Given the description of an element on the screen output the (x, y) to click on. 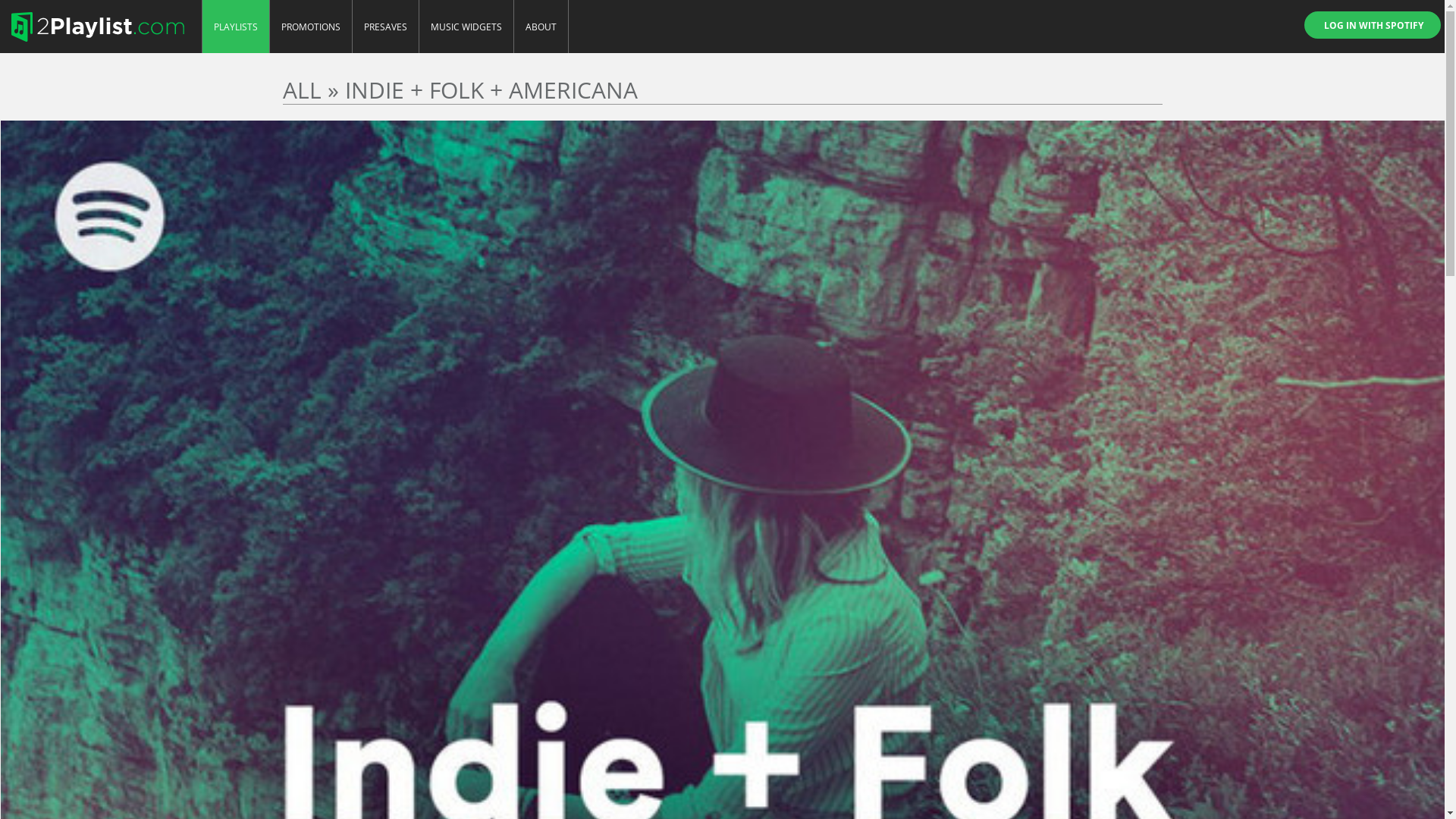
PROMOTIONS Element type: text (310, 26)
ALL Element type: text (301, 89)
MUSIC WIDGETS Element type: text (466, 26)
PRESAVES Element type: text (385, 26)
 LOG IN WITH SPOTIFY Element type: text (1372, 24)
PLAYLISTS Element type: text (235, 26)
2Playlist Element type: hover (97, 26)
ABOUT Element type: text (541, 26)
